Given the description of an element on the screen output the (x, y) to click on. 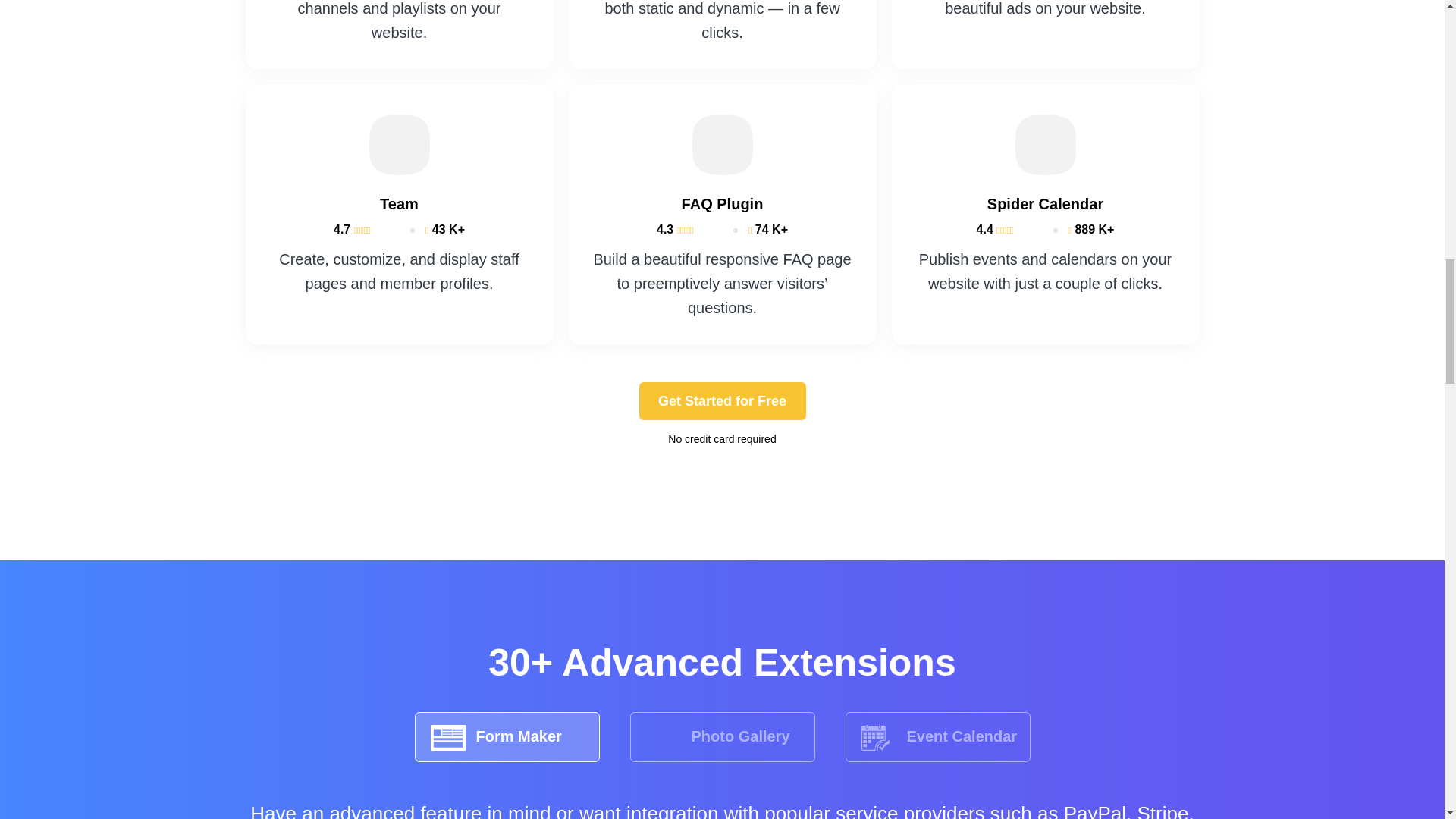
4.7 out of 5 stars (362, 228)
4.3 out of 5 stars (685, 228)
4.4 out of 5 stars (1004, 228)
